Given the description of an element on the screen output the (x, y) to click on. 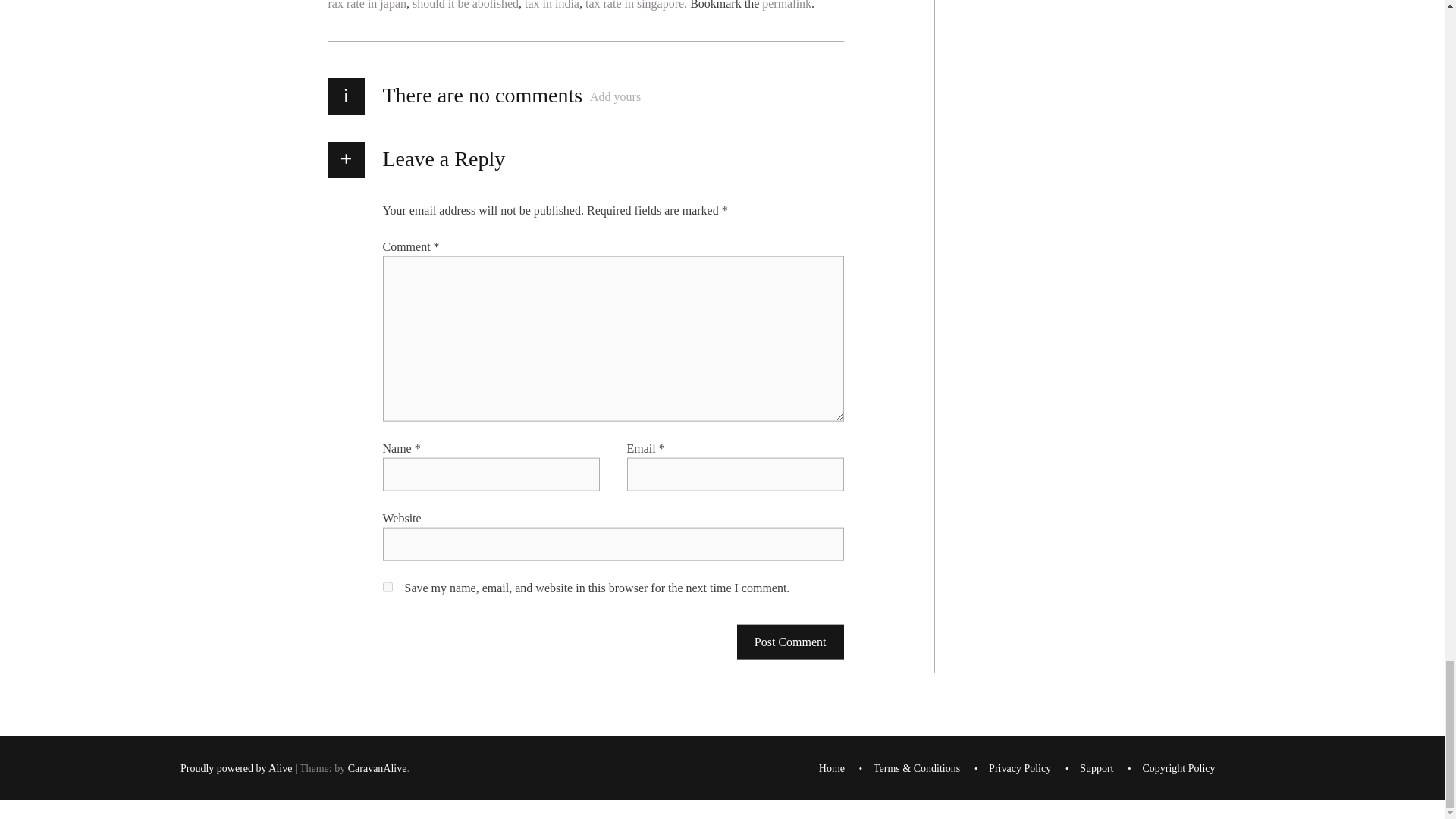
permalink (785, 4)
Add yours (614, 96)
rax rate in japan (366, 4)
tax rate in singapore (634, 4)
tax in india (551, 4)
should it be abolished (465, 4)
Post Comment (790, 641)
Post Comment (790, 641)
yes (386, 586)
